Given the description of an element on the screen output the (x, y) to click on. 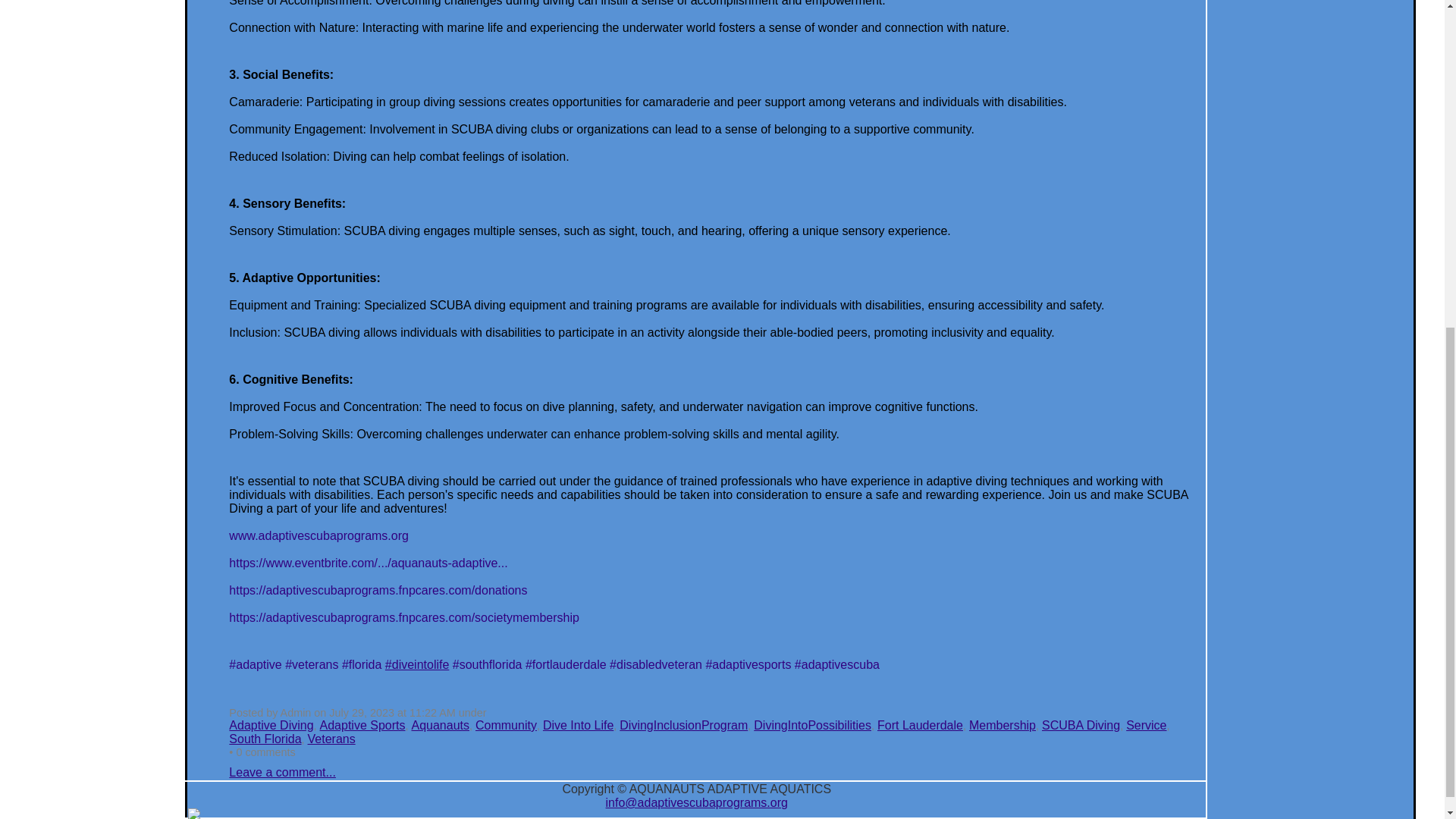
www.adaptivescubaprograms.org (318, 535)
